Given the description of an element on the screen output the (x, y) to click on. 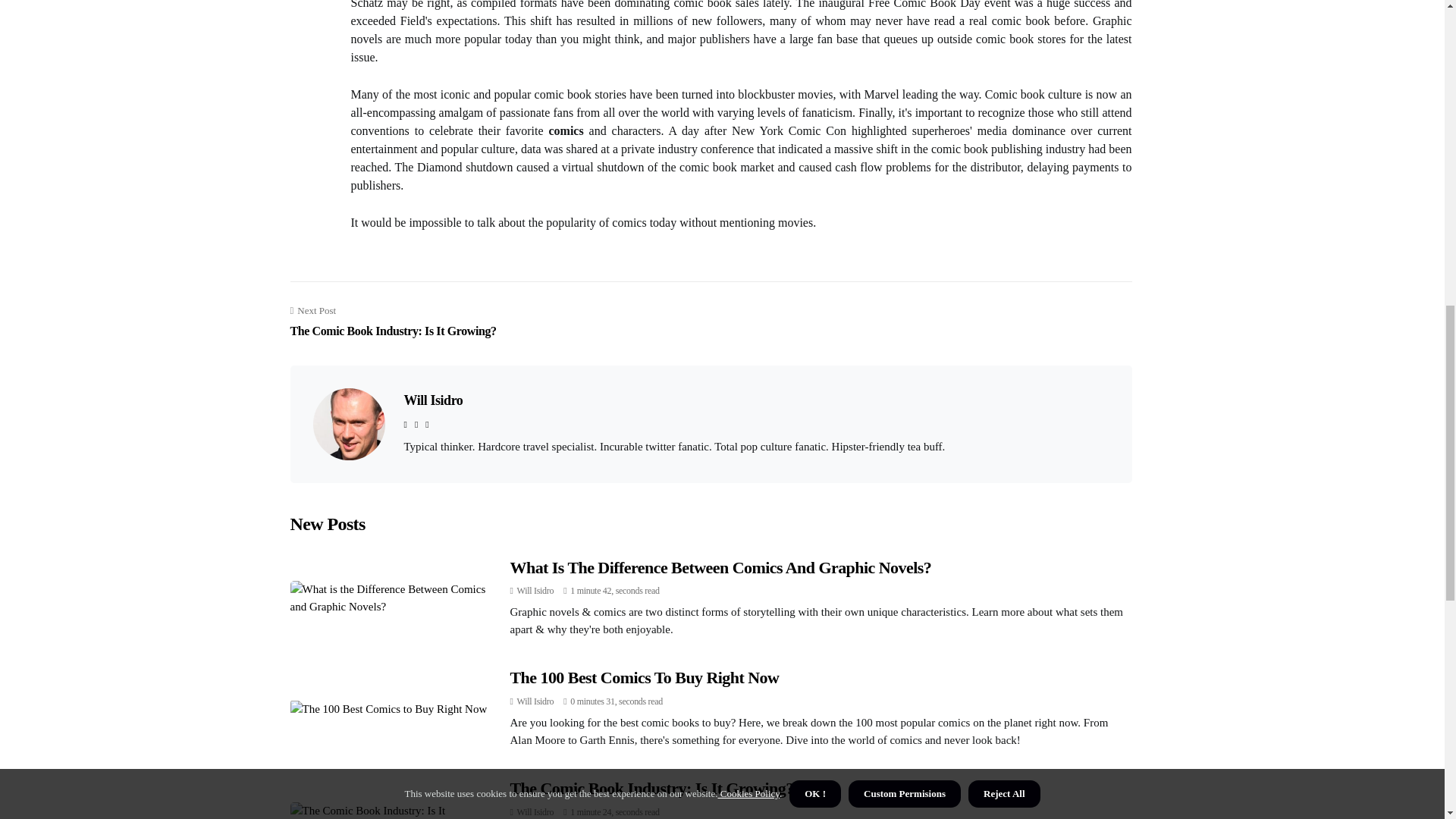
The 100 Best Comics To Buy Right Now (643, 677)
Posts by Will Isidro (535, 811)
Will Isidro (392, 321)
Posts by Will Isidro (433, 400)
Will Isidro (535, 701)
The Comic Book Industry: Is It Growing? (535, 590)
Will Isidro (651, 787)
Posts by Will Isidro (535, 701)
Will Isidro (535, 590)
What Is The Difference Between Comics And Graphic Novels? (535, 811)
